Given the description of an element on the screen output the (x, y) to click on. 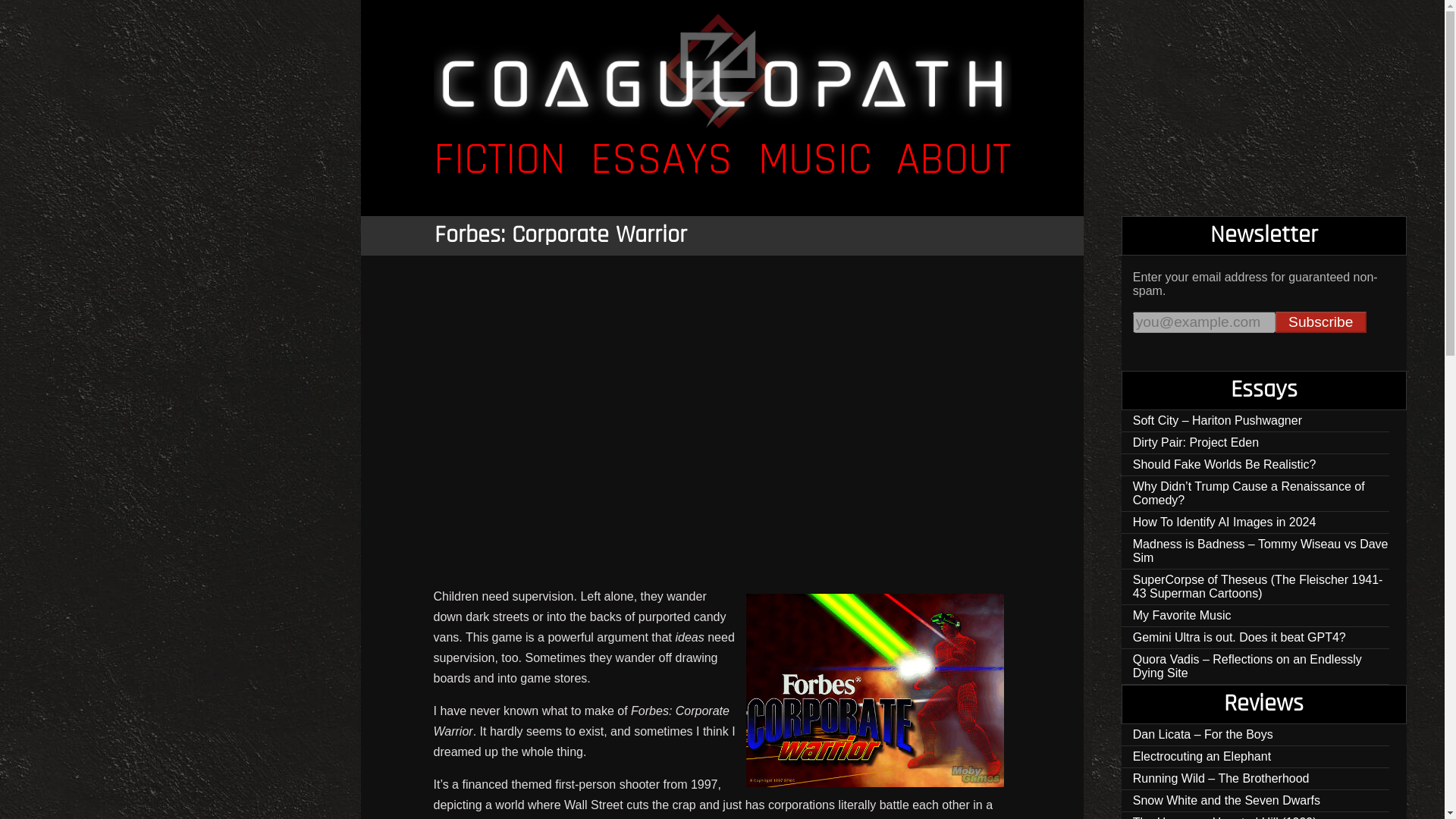
Should Fake Worlds Be Realistic? (1255, 464)
Electrocuting an Elephant (1255, 757)
Dirty Pair: Project Eden (1255, 443)
My Favorite Music (1255, 616)
Subscribe (1321, 322)
Forbes: Corporate Warrior (559, 235)
MUSIC (814, 161)
ESSAYS (661, 161)
How To Identify AI Images in 2024 (1255, 522)
ABOUT (953, 161)
FICTION (499, 161)
Subscribe (1321, 322)
Gemini Ultra is out. Does it beat GPT4? (1255, 638)
Snow White and the Seven Dwarfs (1255, 801)
